Given the description of an element on the screen output the (x, y) to click on. 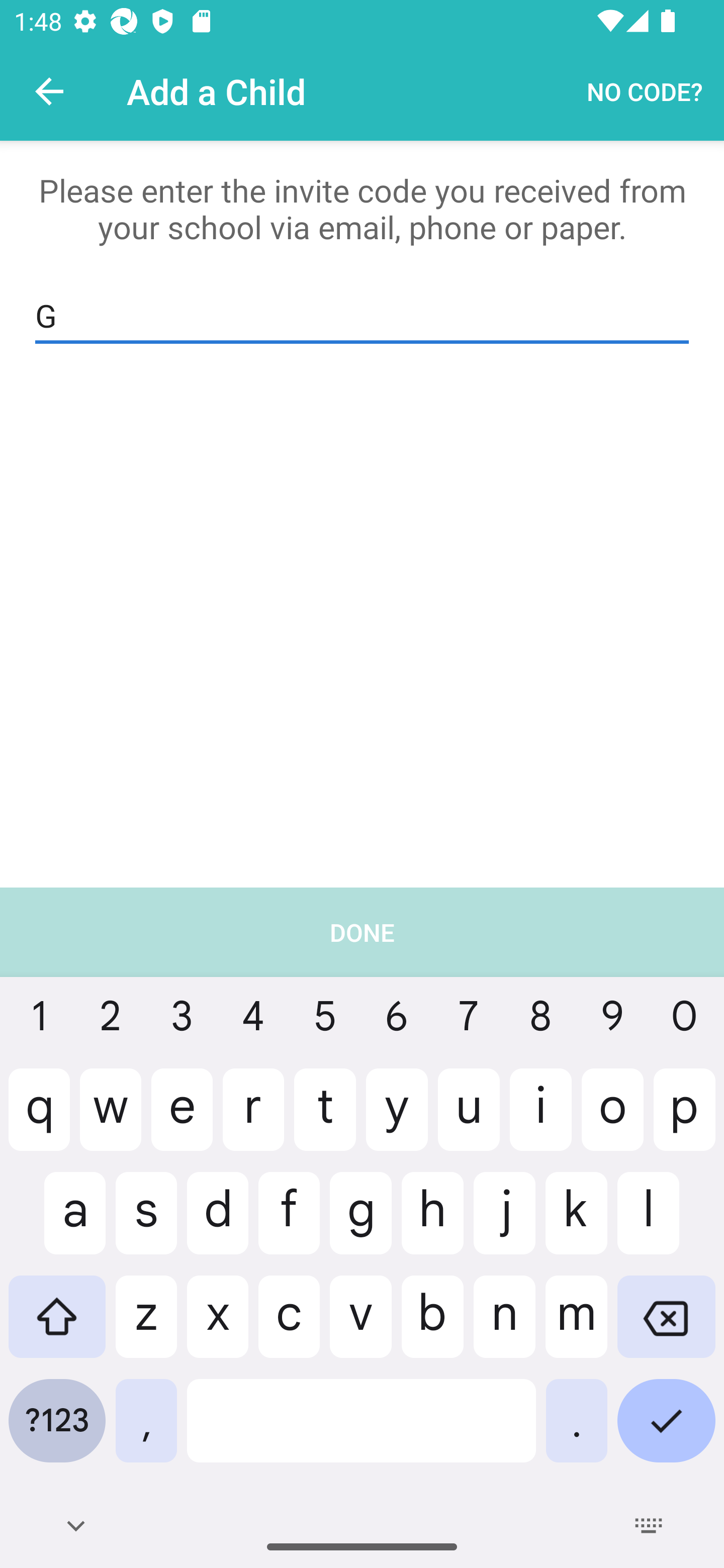
Navigate up (49, 91)
NO CODE? (644, 90)
G (361, 315)
DONE (362, 1227)
